Given the description of an element on the screen output the (x, y) to click on. 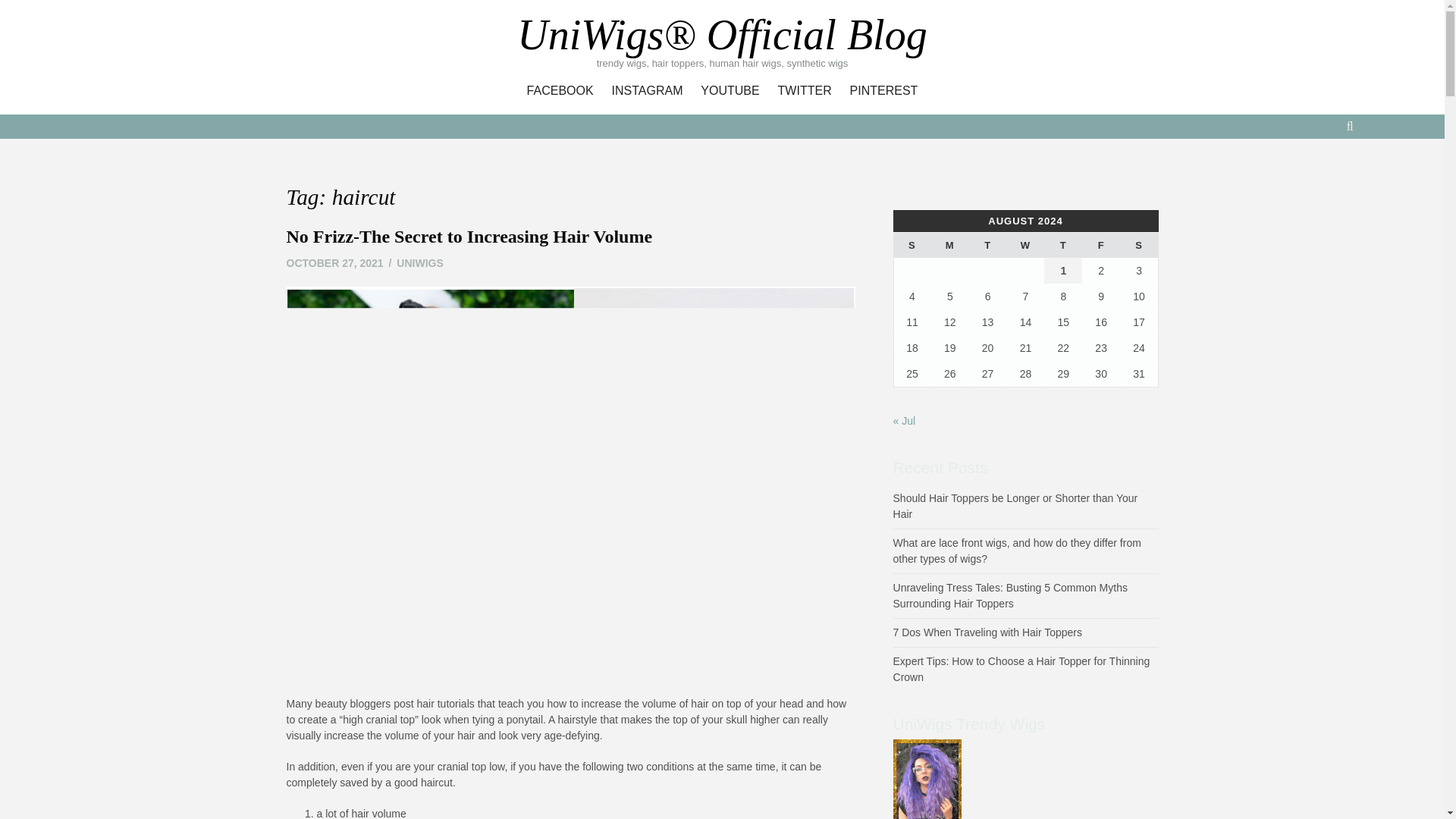
Tuesday (988, 245)
Friday (1100, 245)
UNIWIGS (419, 263)
OCTOBER 27, 2021 (335, 263)
UniWigs Trendy Wigs (926, 806)
Wednesday (1026, 245)
INSTAGRAM (647, 91)
Search (730, 123)
Thursday (1062, 245)
Saturday (1138, 245)
Should Hair Toppers be Longer or Shorter than Your Hair (1015, 506)
YOUTUBE (730, 91)
TWITTER (805, 91)
No Frizz-The Secret to Increasing Hair Volume (469, 236)
